Given the description of an element on the screen output the (x, y) to click on. 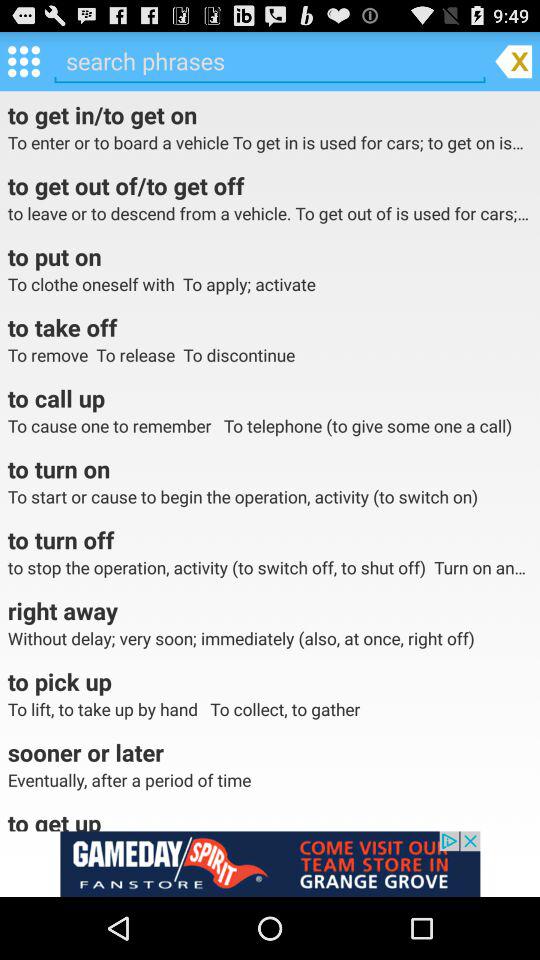
close the file (513, 60)
